Given the description of an element on the screen output the (x, y) to click on. 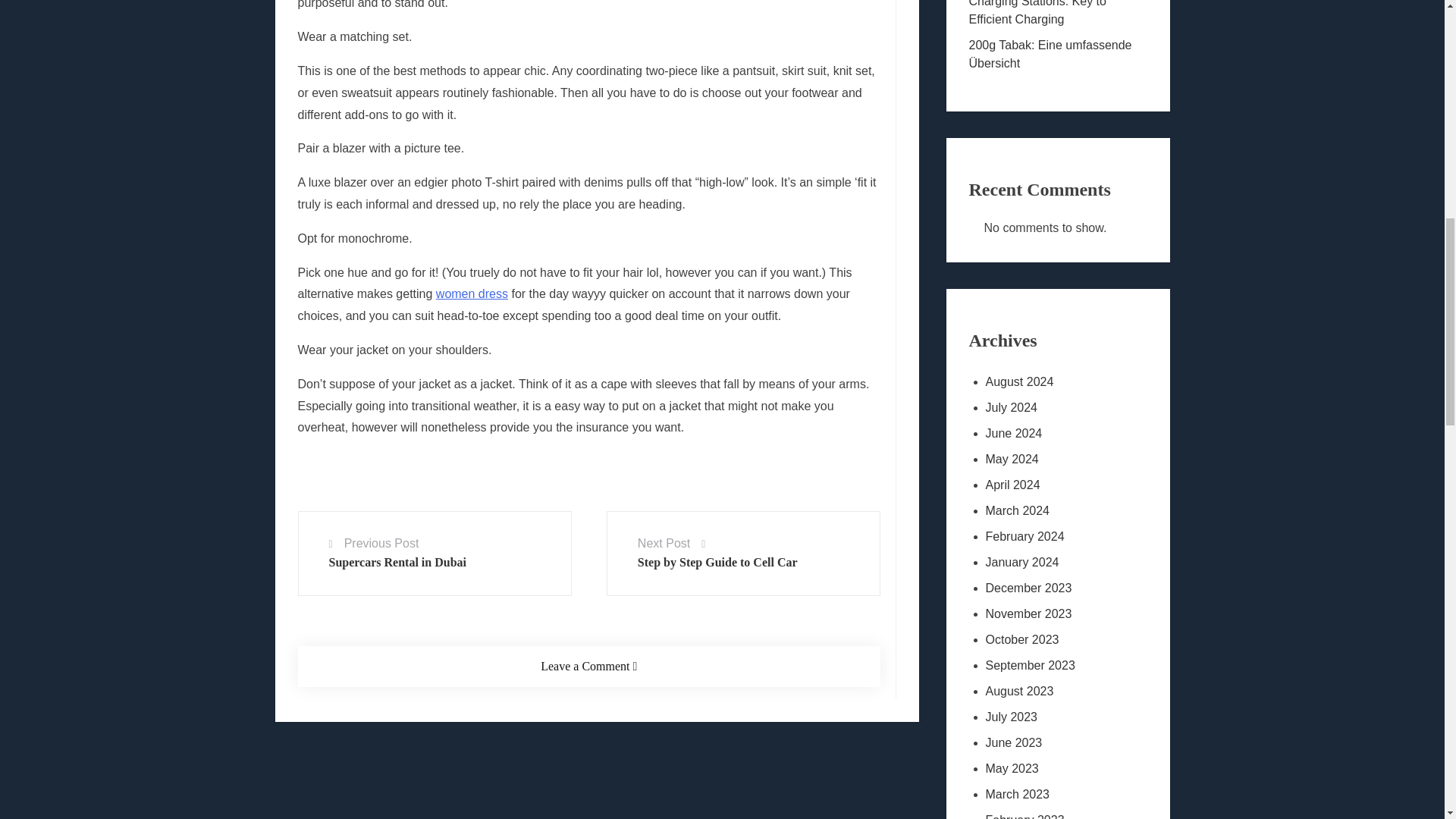
March 2024 (1058, 510)
August 2024 (1058, 381)
July 2024 (1058, 407)
February 2024 (1058, 536)
Next Post (663, 543)
women dress (471, 293)
May 2024 (1058, 459)
November 2023 (1058, 614)
October 2023 (1058, 639)
Previous Post (381, 543)
April 2024 (1058, 484)
January 2024 (1058, 562)
Supercars Rental in Dubai (398, 562)
June 2024 (1058, 433)
